Given the description of an element on the screen output the (x, y) to click on. 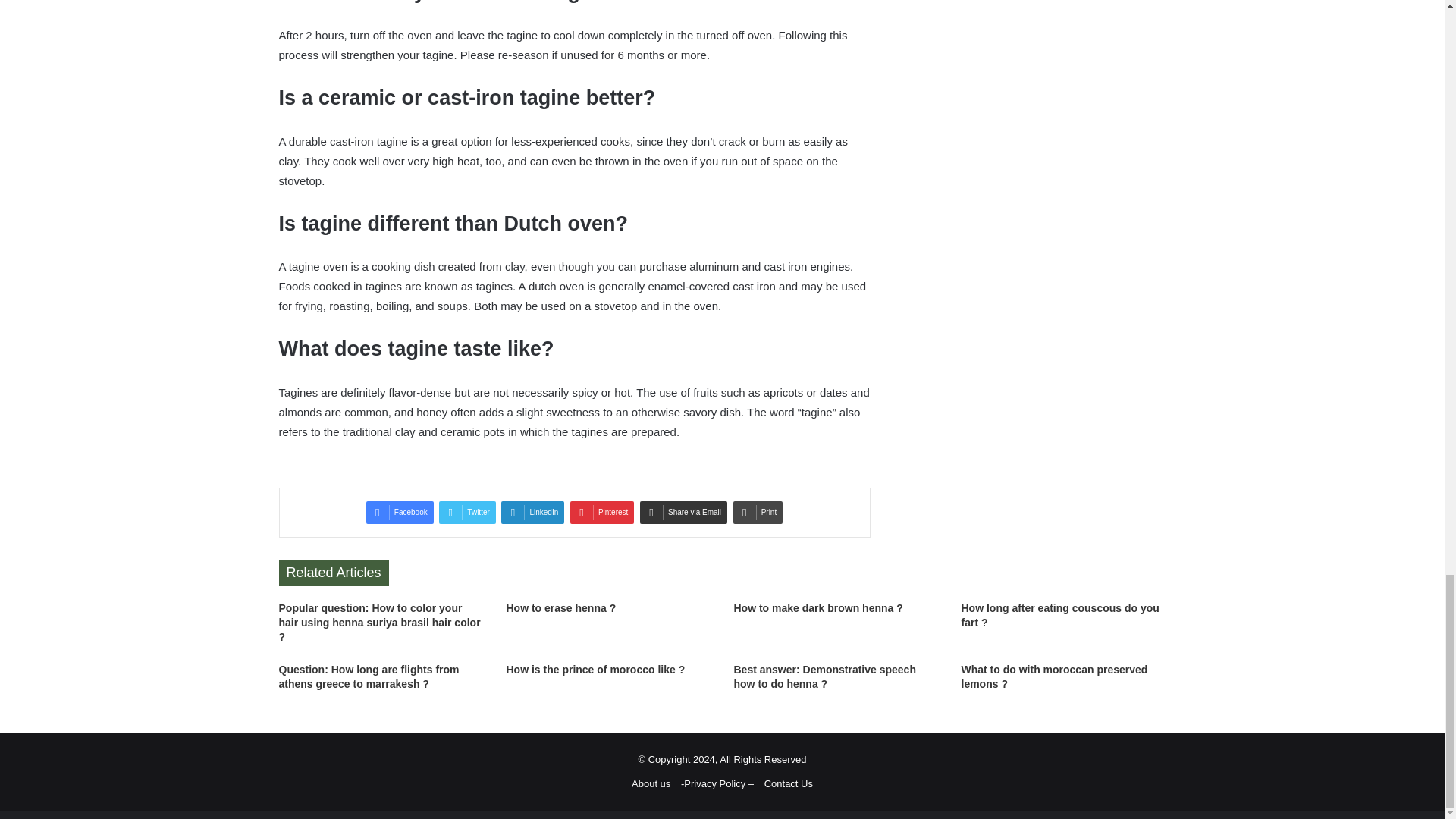
Twitter (467, 512)
Pinterest (601, 512)
How to make dark brown henna ? (817, 607)
How to erase henna ? (560, 607)
Twitter (467, 512)
How long after eating couscous do you fart ? (1059, 614)
Facebook (399, 512)
Facebook (399, 512)
Print (758, 512)
